Given the description of an element on the screen output the (x, y) to click on. 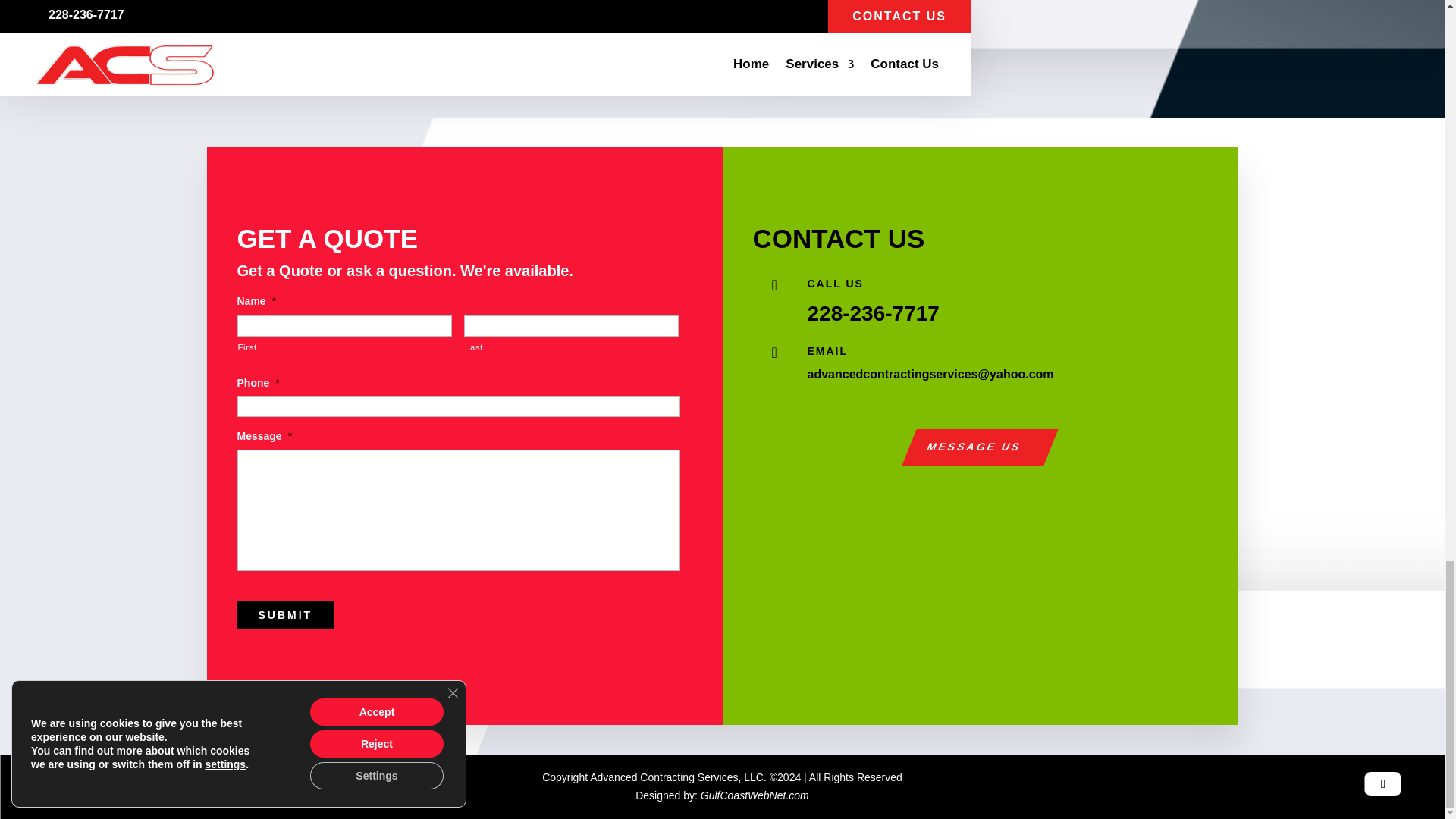
MESSAGE US (972, 447)
SUBMIT (284, 615)
EMAIL (826, 350)
CALL US (834, 283)
